Given the description of an element on the screen output the (x, y) to click on. 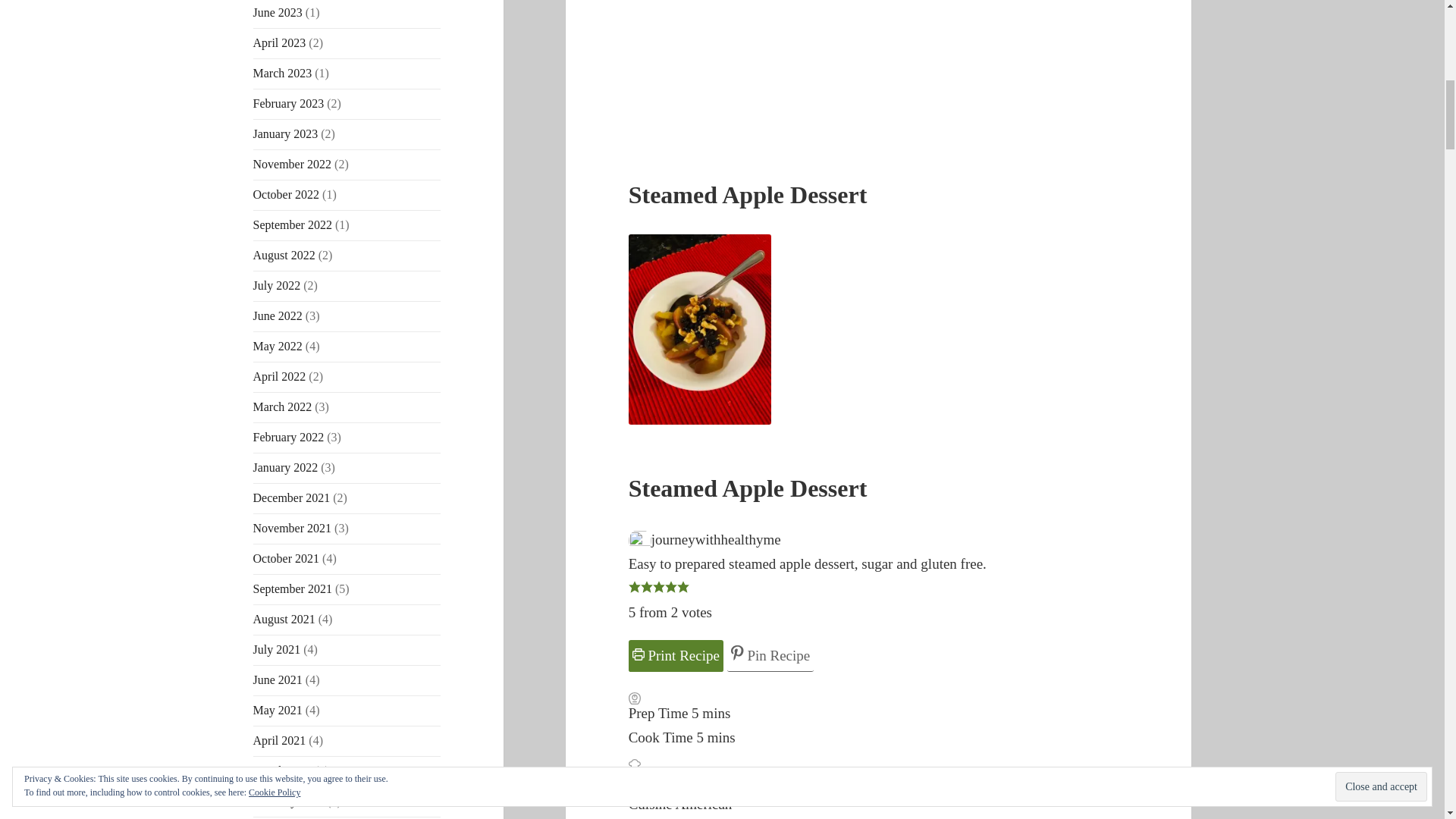
April 2023 (279, 42)
January 2023 (285, 133)
June 2022 (277, 315)
March 2023 (283, 72)
March 2022 (283, 406)
October 2021 (286, 558)
May 2022 (277, 345)
November 2021 (292, 527)
October 2022 (286, 194)
August 2022 (284, 254)
